Given the description of an element on the screen output the (x, y) to click on. 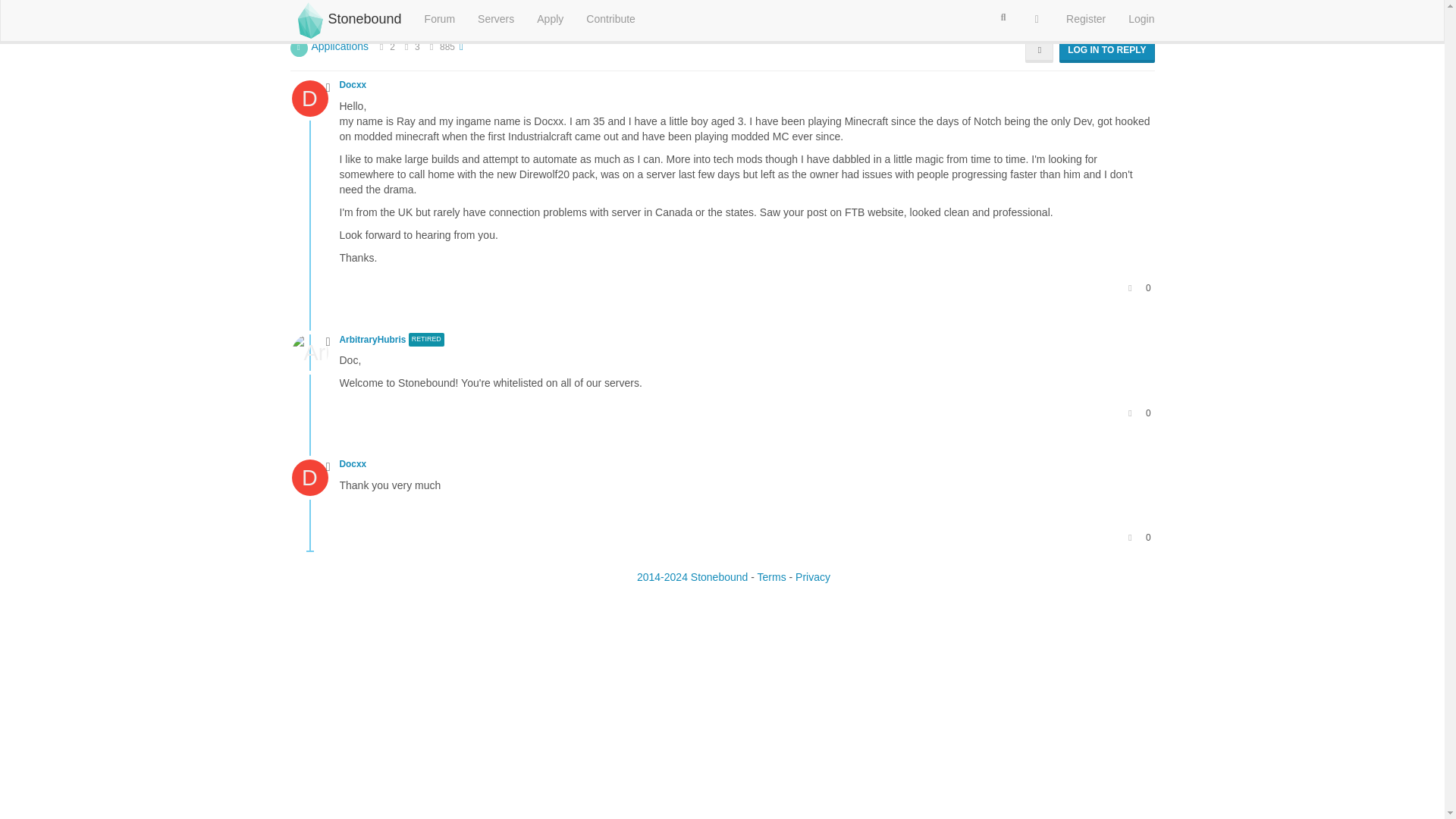
Applications (339, 46)
Contribute (610, 18)
LOG IN TO REPLY (1106, 50)
Servers (495, 18)
D (315, 97)
Search (1003, 17)
Sort by (1038, 50)
885 (446, 46)
Apply (550, 18)
Contribute (610, 18)
2 (392, 46)
Login (1141, 18)
Apply (550, 18)
Docxx (354, 84)
Posts (406, 46)
